Given the description of an element on the screen output the (x, y) to click on. 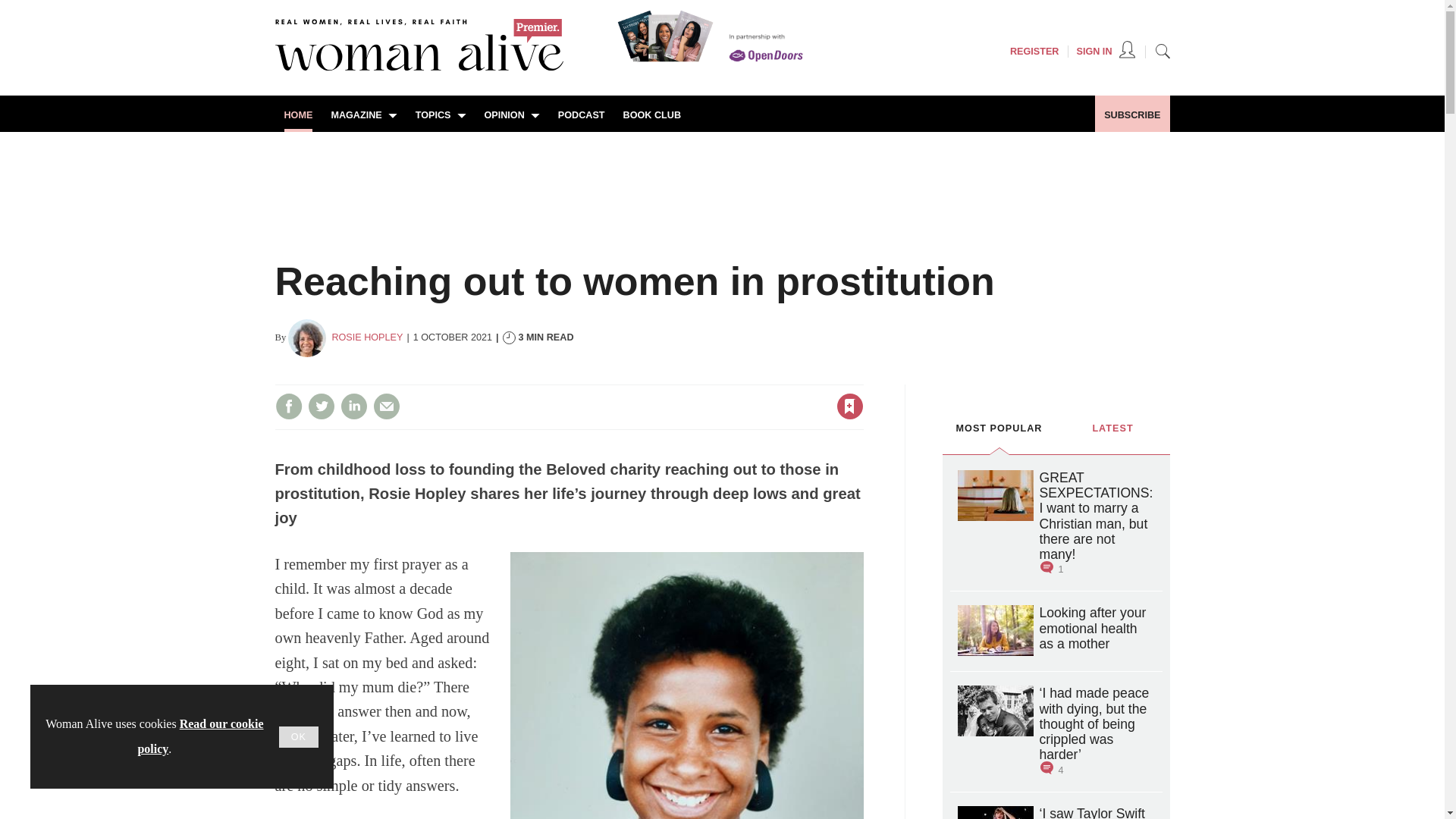
3rd party ad content (721, 183)
REGISTER (1034, 51)
Share this on Facebook (288, 406)
Email this article (386, 406)
Site name (418, 66)
Read our cookie policy (199, 735)
OK (298, 736)
Share this on Twitter (320, 406)
SIGN IN (1106, 51)
SEARCH (1161, 50)
